Given the description of an element on the screen output the (x, y) to click on. 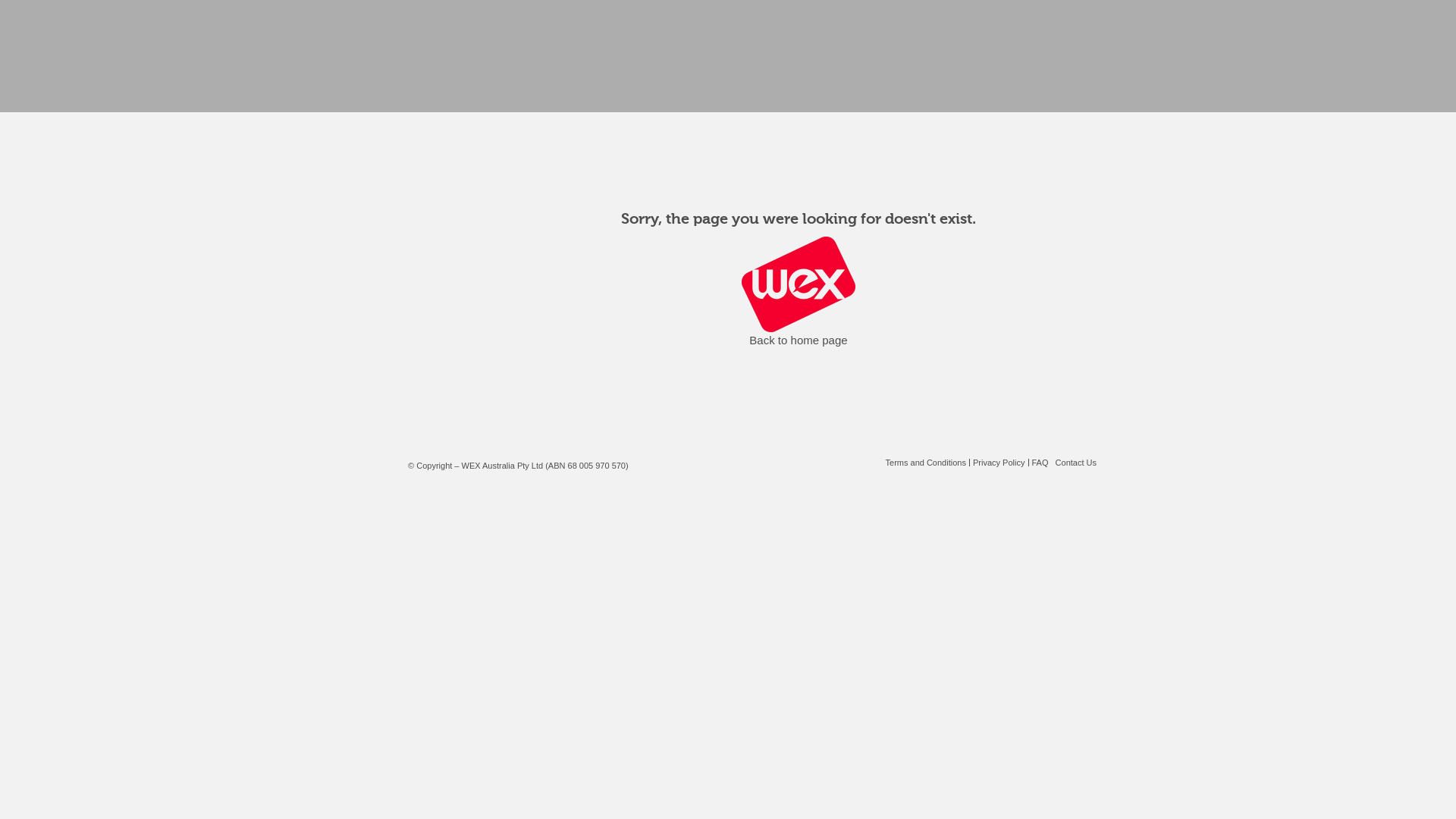
Privacy Policy Element type: text (998, 462)
Contact Us Element type: text (1075, 462)
FAQ Element type: text (1039, 462)
Back to home page Element type: text (798, 339)
Terms and Conditions Element type: text (925, 462)
